Given the description of an element on the screen output the (x, y) to click on. 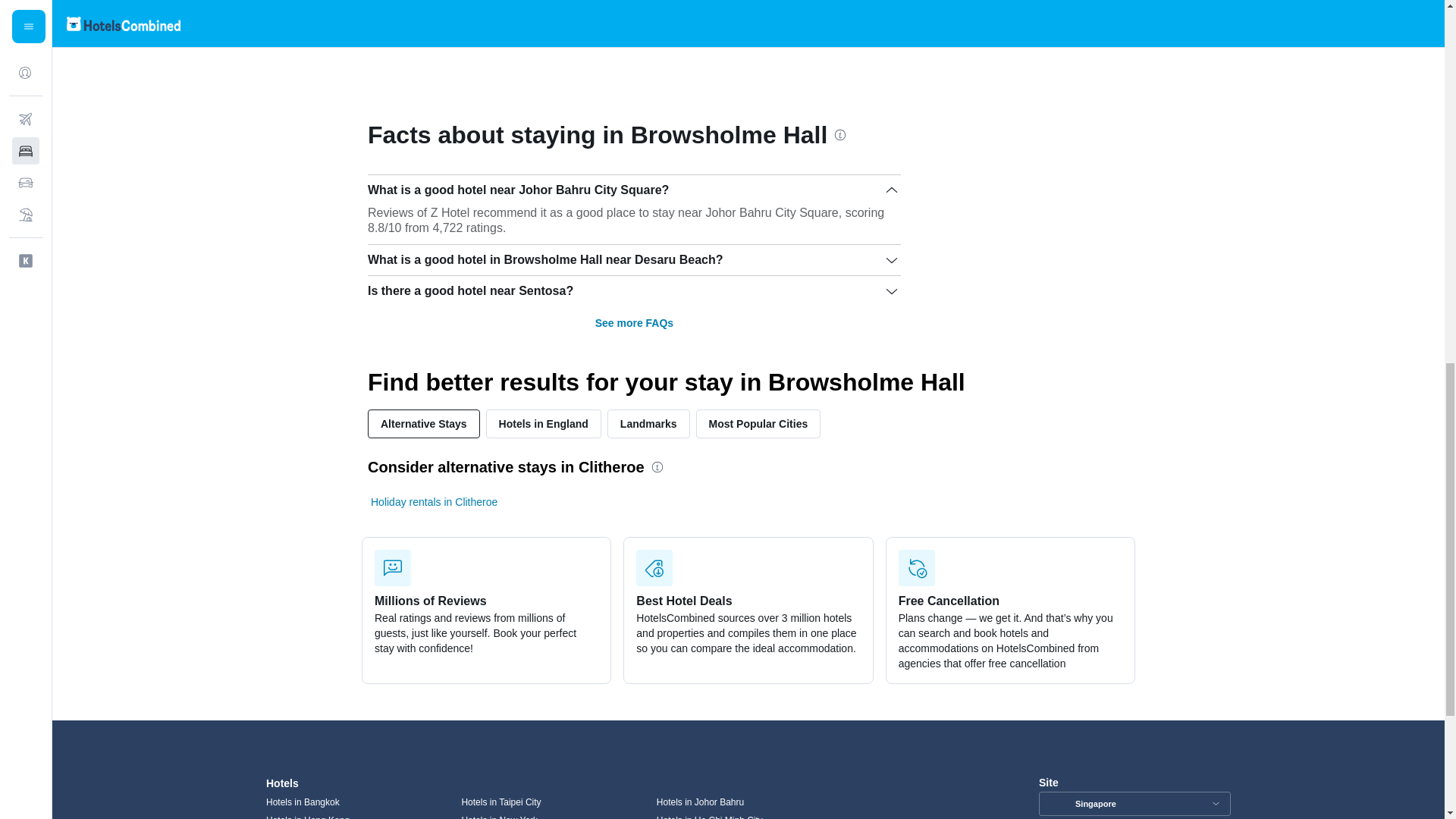
Lancashire Hotels (702, 22)
Landmarks (648, 423)
Hotels in England (543, 423)
Most Popular Cities (758, 423)
Alternative Stays (424, 423)
Home (373, 22)
England Hotels (580, 22)
United Kingdom Hotels (450, 22)
Holiday rentals in Clitheroe (434, 501)
